Given the description of an element on the screen output the (x, y) to click on. 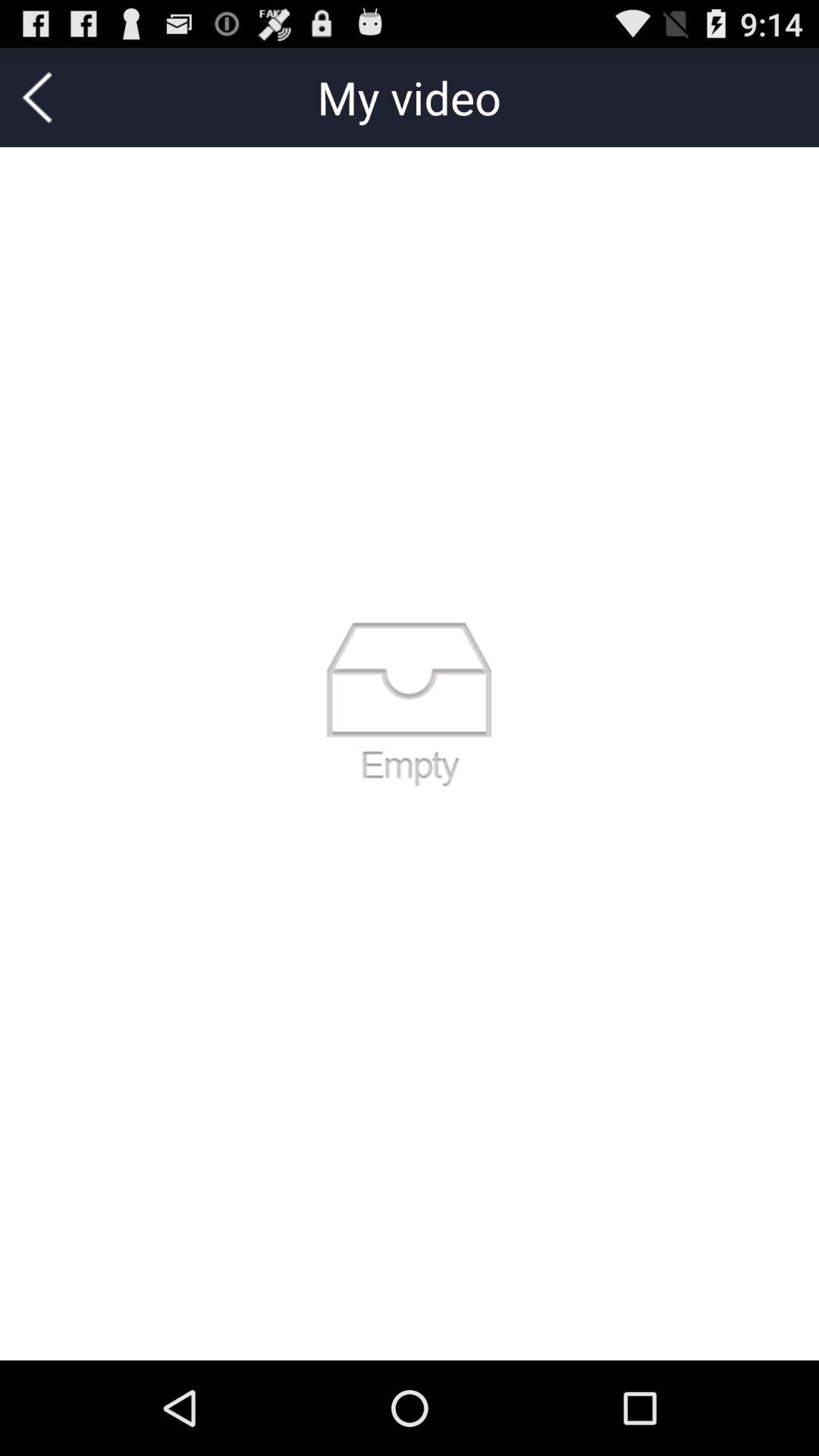
open app to the left of the my video app (37, 97)
